Given the description of an element on the screen output the (x, y) to click on. 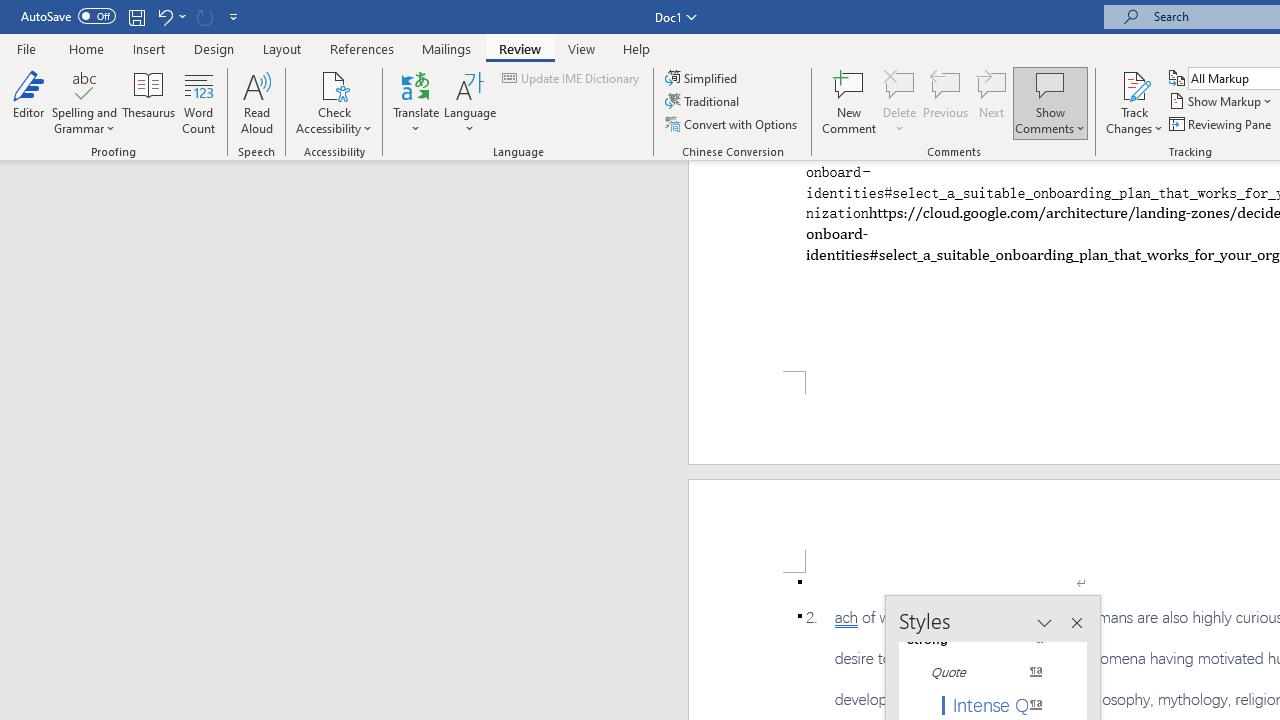
Track Changes (1134, 102)
Show Markup (1222, 101)
Translate (415, 102)
Language (470, 102)
Previous (946, 102)
Next (991, 102)
Undo Paste (164, 15)
Spelling and Grammar (84, 84)
